Given the description of an element on the screen output the (x, y) to click on. 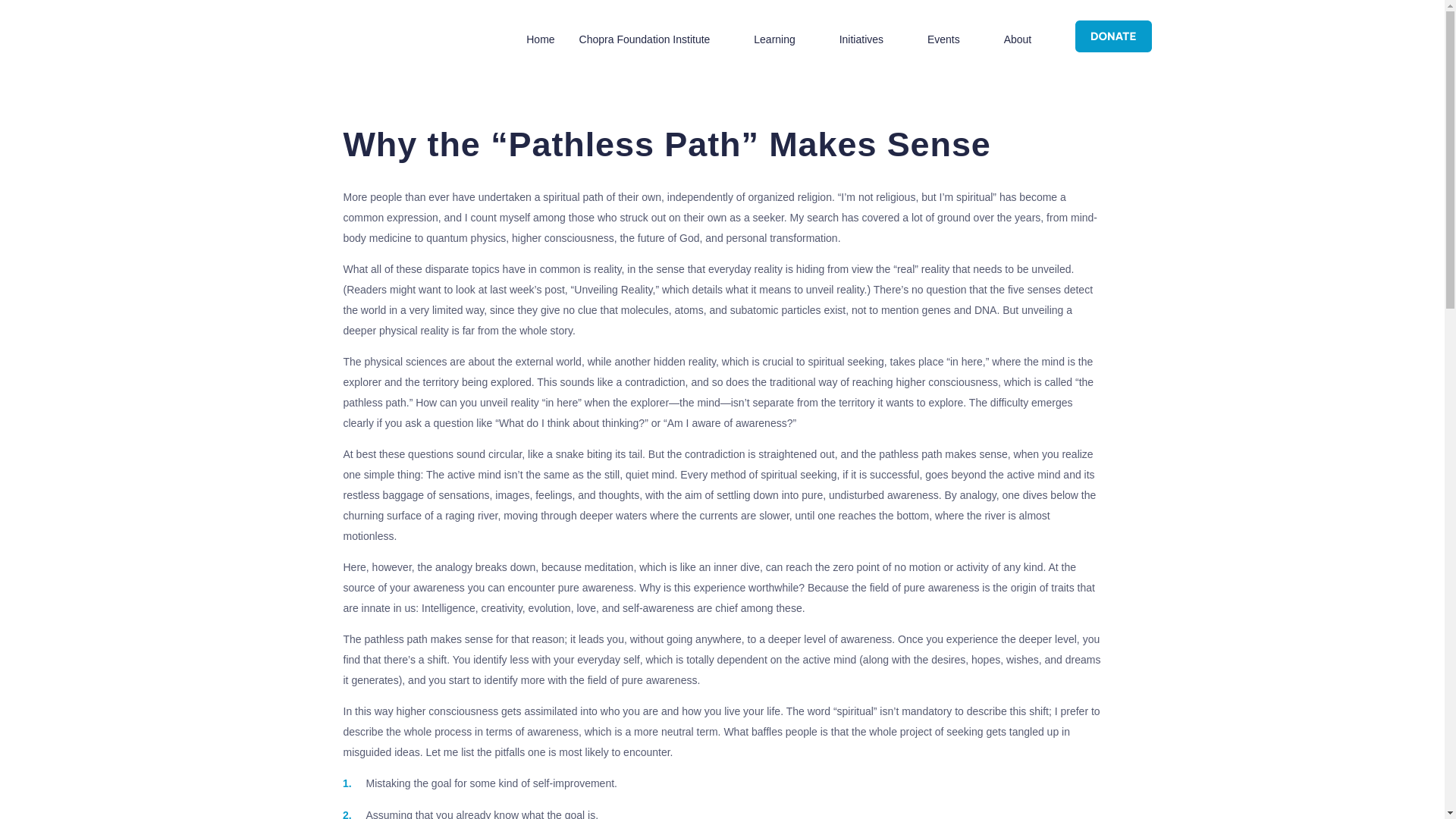
Chopra Foundation Institute (644, 39)
Learning (774, 39)
Events (943, 39)
About (1018, 39)
Home (539, 39)
Initiatives (861, 39)
PayPal - The safer, easier way to pay online! (1113, 36)
